Given the description of an element on the screen output the (x, y) to click on. 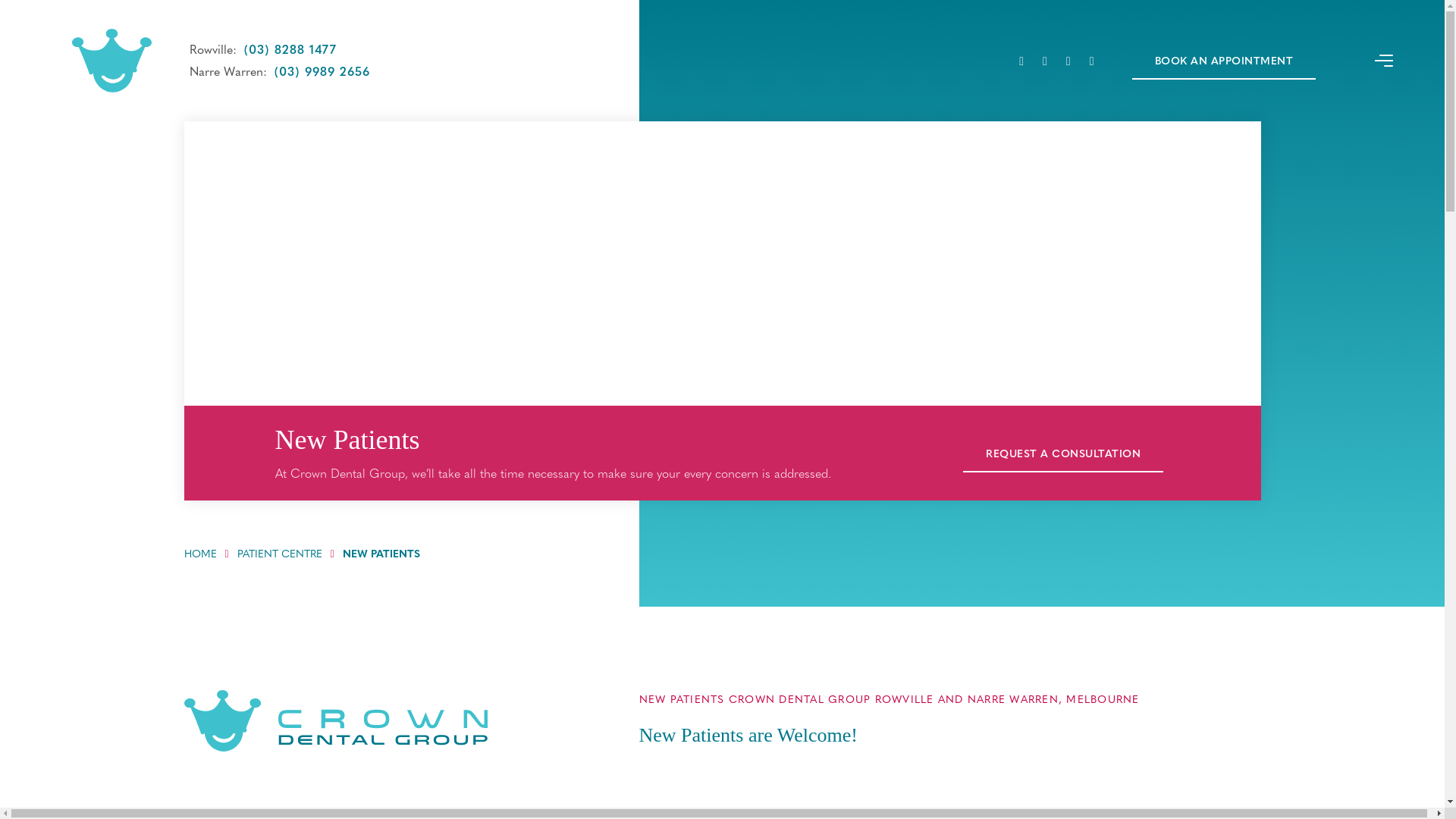
REQUEST A CONSULTATION Element type: text (1063, 452)
svg asset Element type: hover (334, 720)
BOOK AN APPOINTMENT Element type: text (1223, 60)
(03) 8288 1477 Element type: text (290, 48)
(03) 9989 2656 Element type: text (322, 70)
PATIENT CENTRE Element type: text (279, 552)
HOME Element type: text (199, 552)
